Given the description of an element on the screen output the (x, y) to click on. 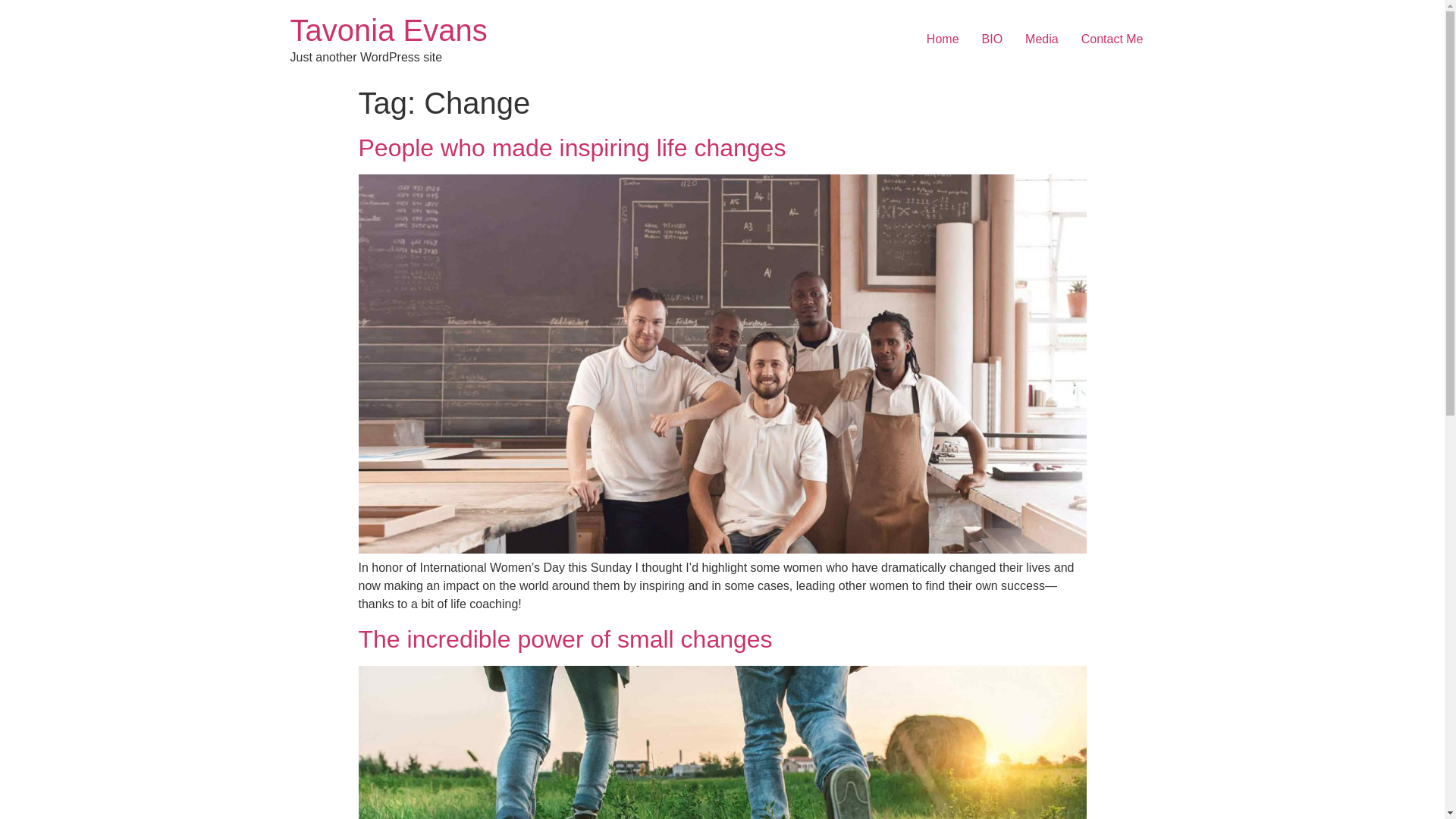
Home (387, 29)
The incredible power of small changes (564, 638)
Home (943, 39)
BIO (992, 39)
Media (1041, 39)
Contact Me (1112, 39)
Tavonia Evans (387, 29)
People who made inspiring life changes (572, 147)
